Given the description of an element on the screen output the (x, y) to click on. 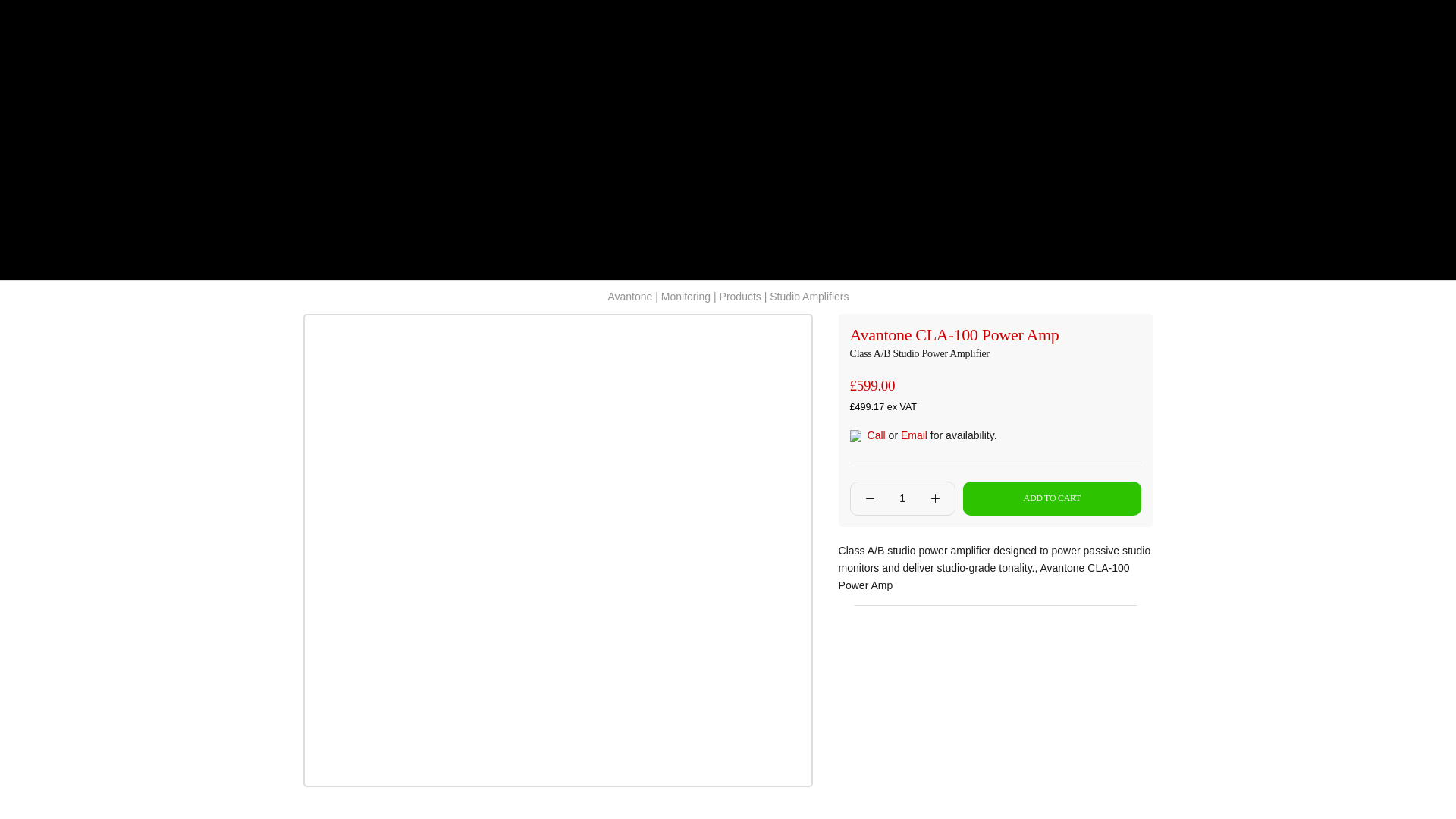
1 (902, 498)
